Given the description of an element on the screen output the (x, y) to click on. 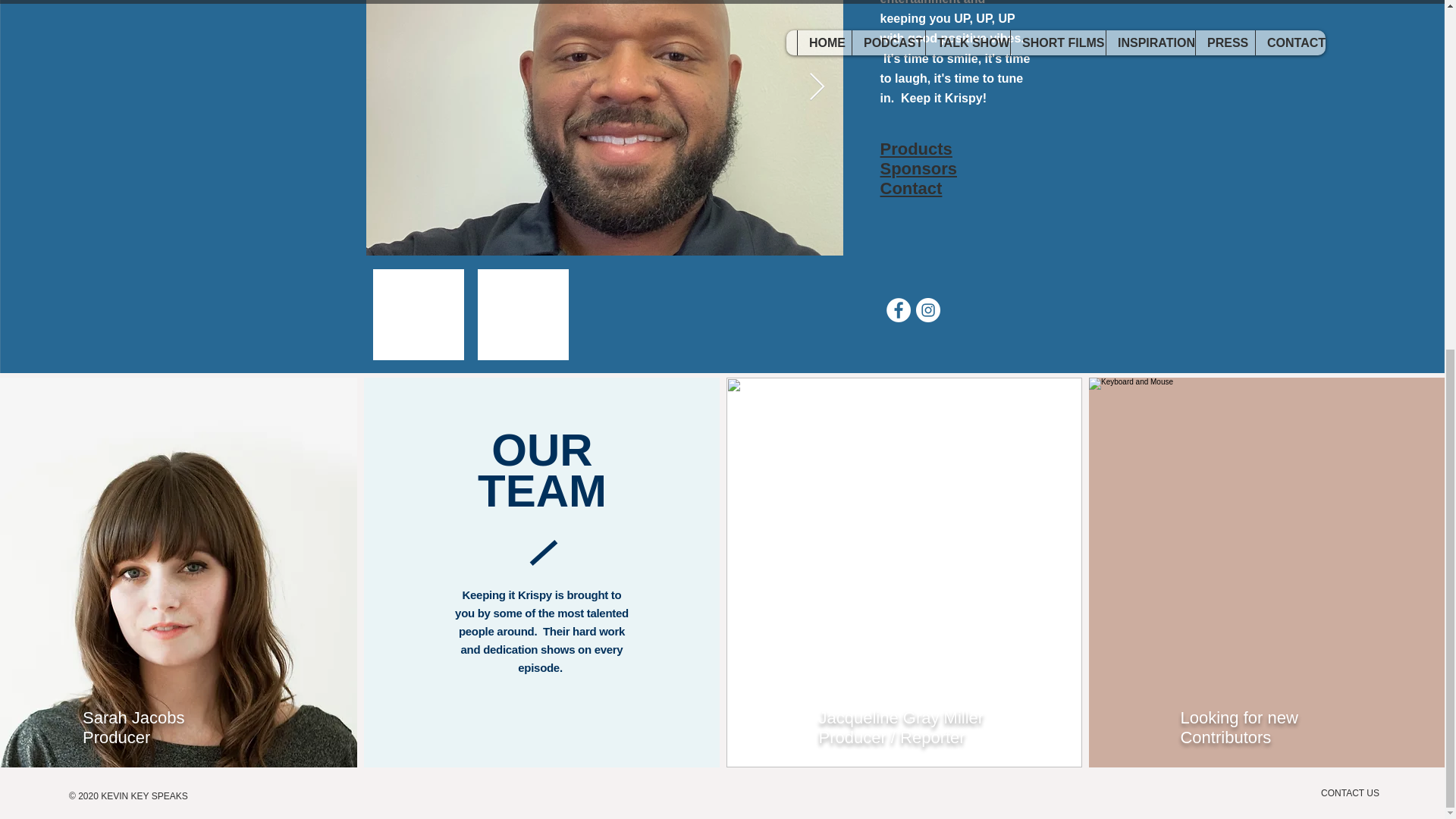
CONTACT US (1349, 792)
Products (915, 148)
Sponsors (917, 168)
Contact (910, 188)
